Given the description of an element on the screen output the (x, y) to click on. 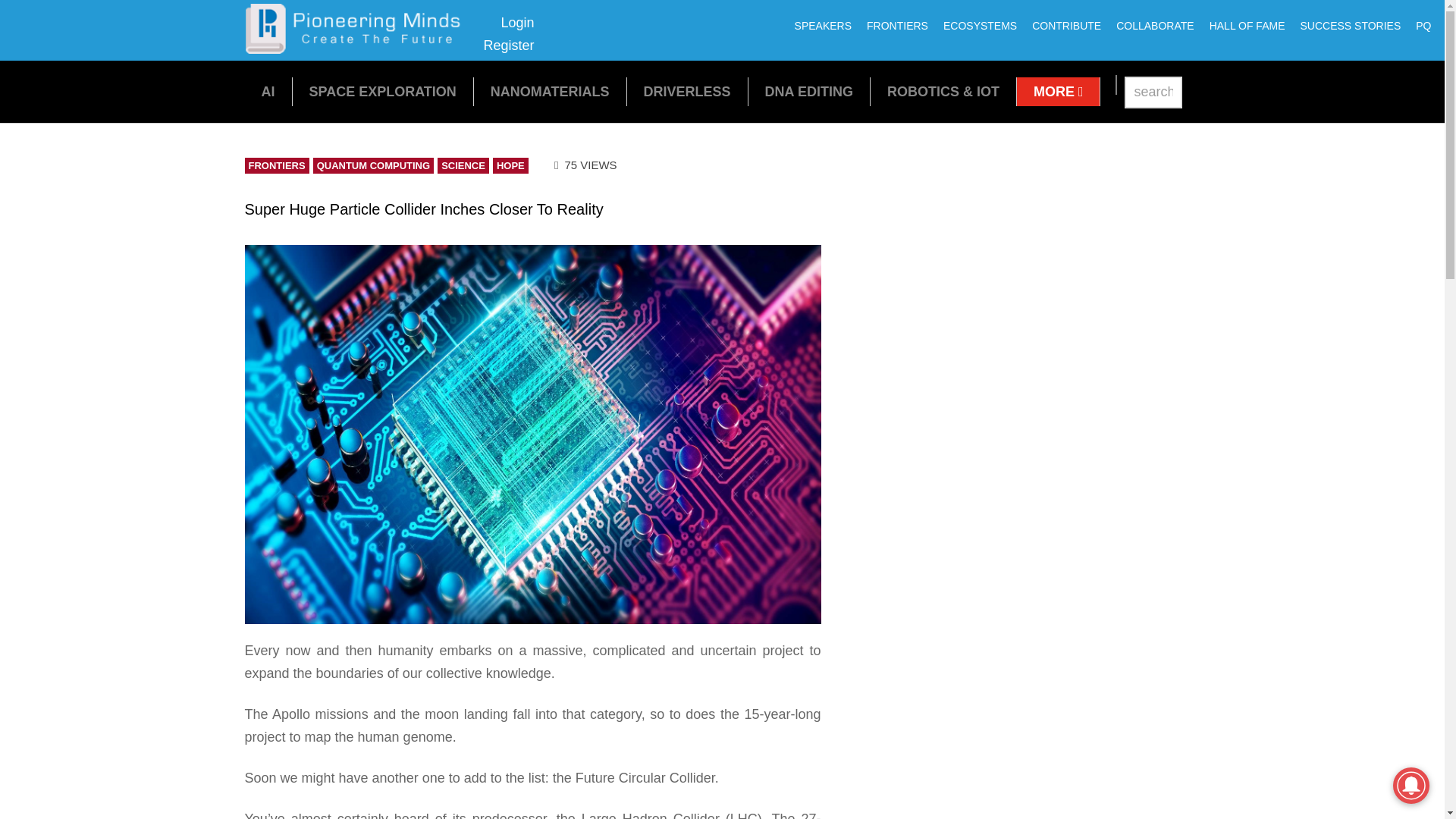
CONTRIBUTE (1066, 26)
AI (508, 34)
DRIVERLESS (267, 91)
Pioneering Minds (686, 91)
MORE (357, 48)
SUCCESS STORIES (1058, 91)
ECOSYSTEMS (1349, 26)
HALL OF FAME (980, 26)
COLLABORATE (1247, 26)
DNA EDITING (1154, 26)
SPACE EXPLORATION (809, 91)
SPEAKERS (382, 91)
FRONTIERS (823, 26)
PQ (897, 26)
